Given the description of an element on the screen output the (x, y) to click on. 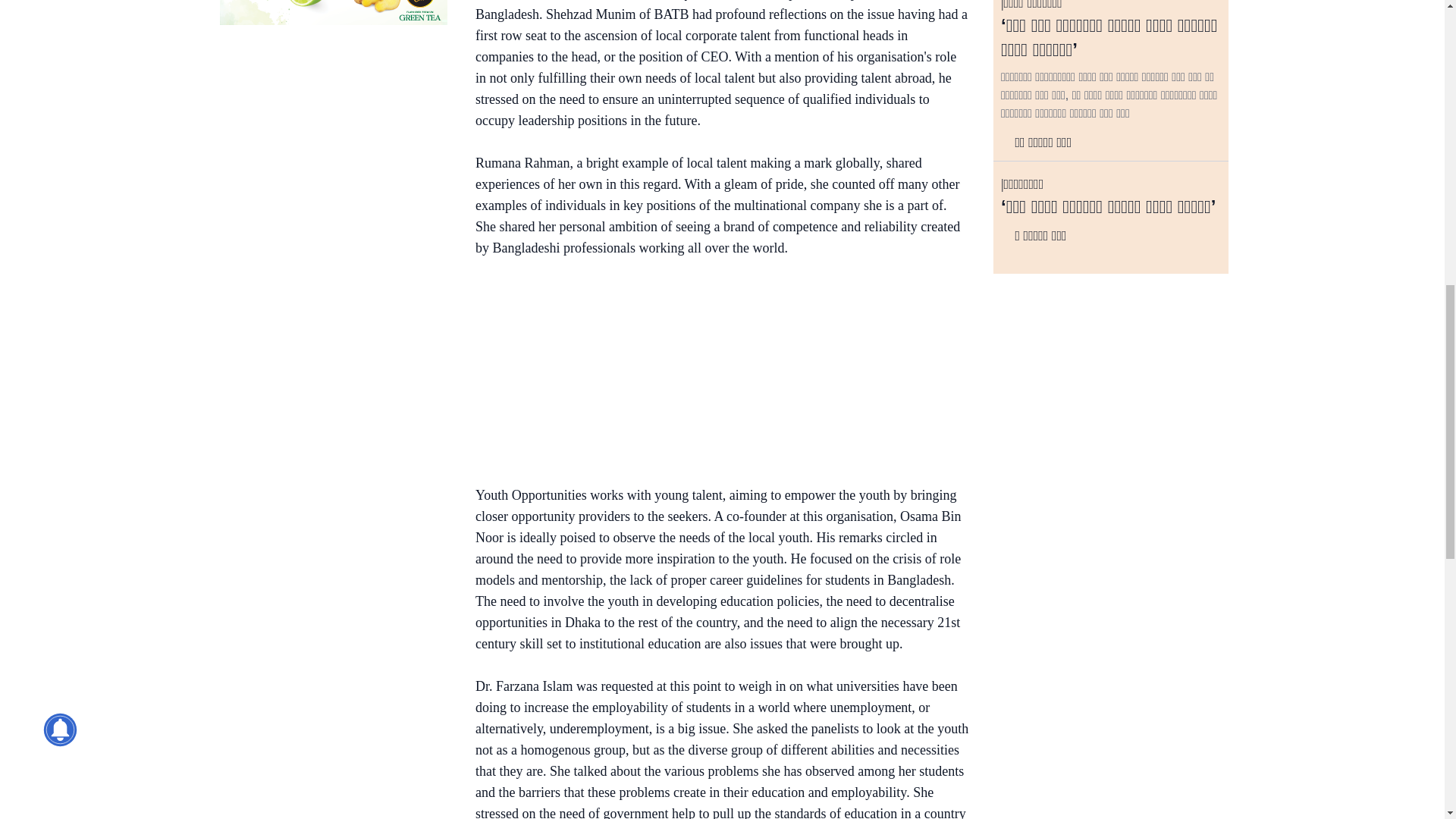
3rd party ad content (332, 135)
3rd party ad content (332, 12)
3rd party ad content (713, 374)
